Given the description of an element on the screen output the (x, y) to click on. 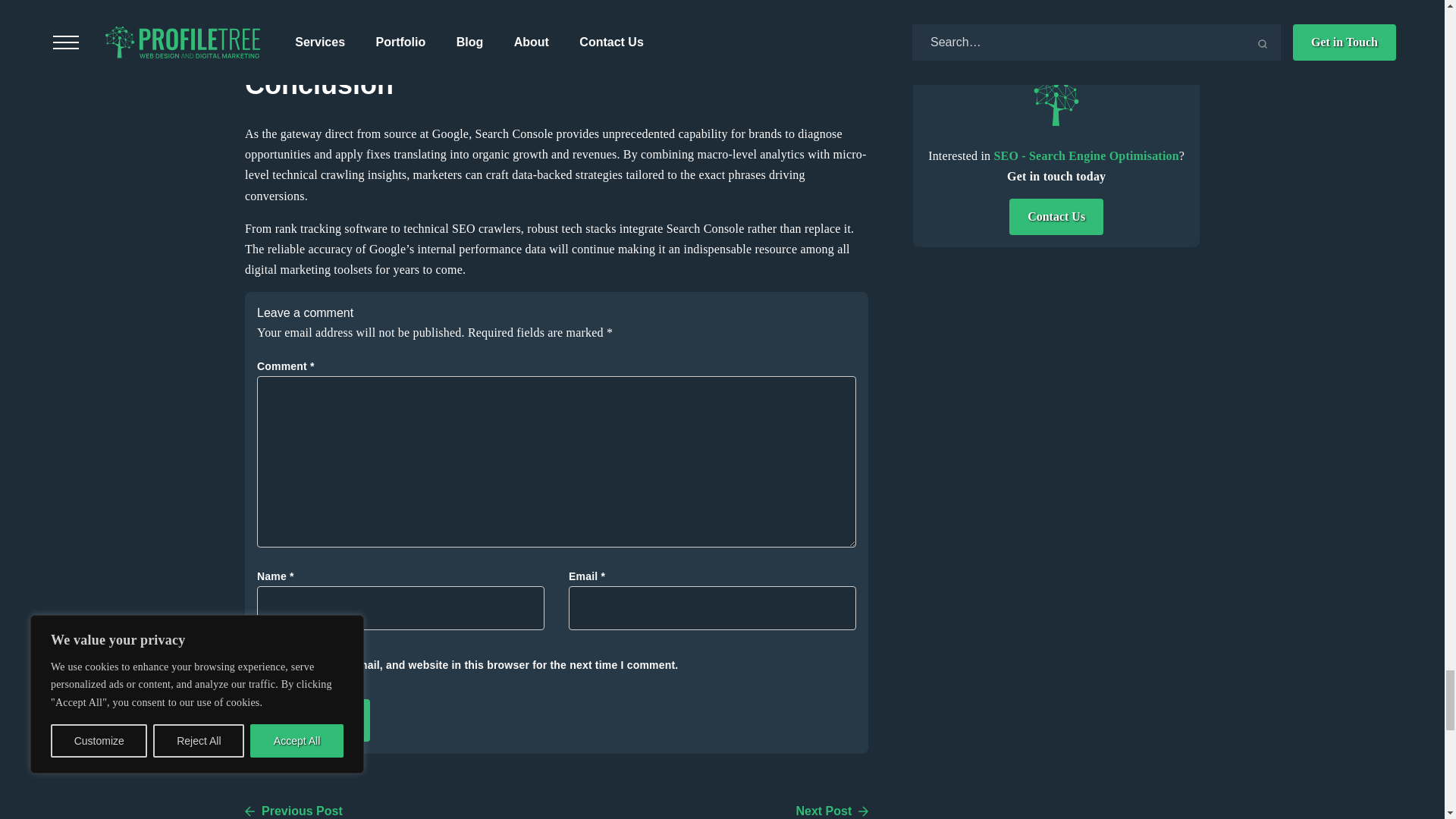
Post Comment (313, 720)
yes (261, 664)
